Given the description of an element on the screen output the (x, y) to click on. 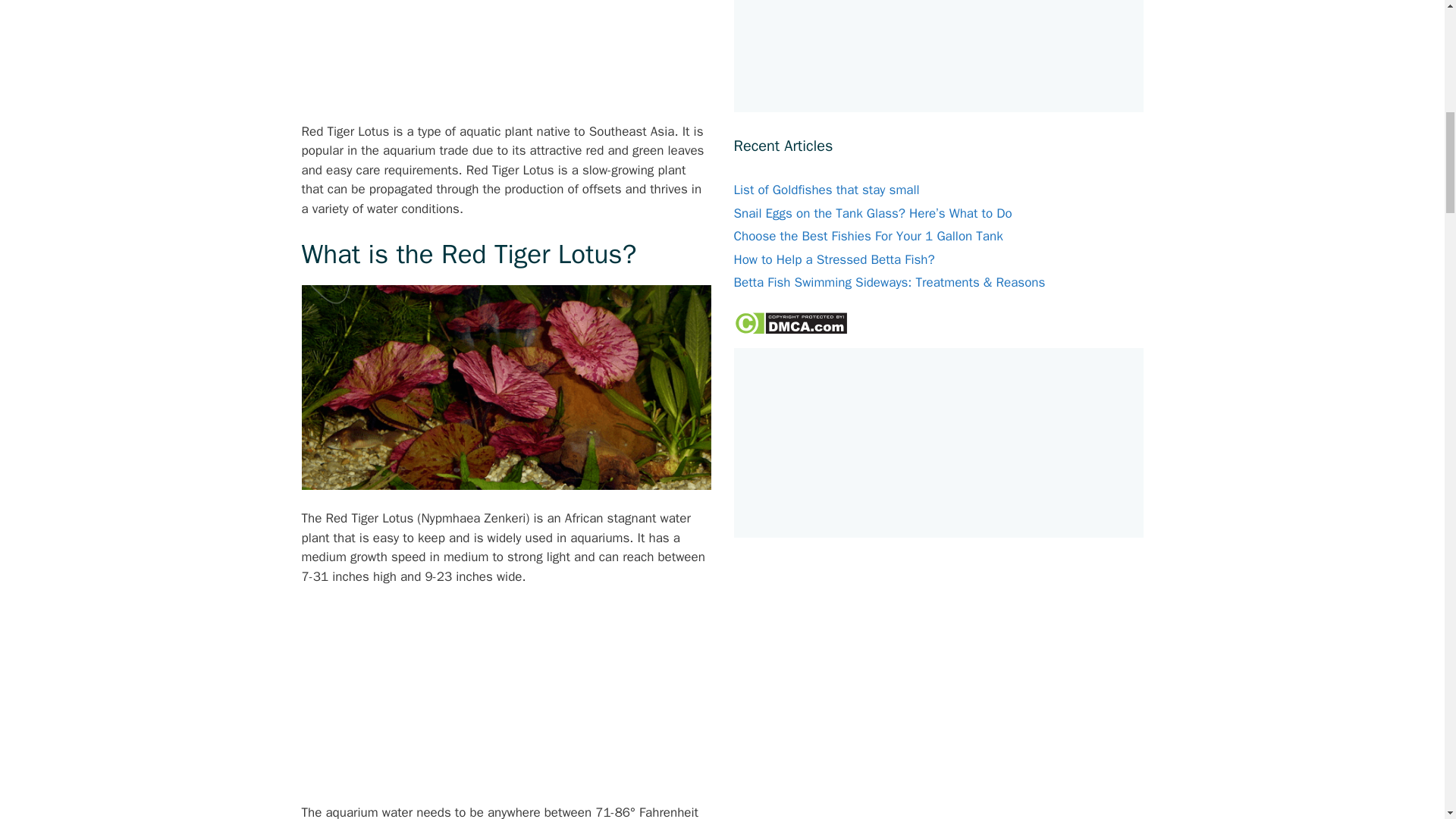
DMCA.com Protection Status (790, 330)
Choose the Best Fishies For Your 1 Gallon Tank (868, 236)
List of Goldfishes that stay small (826, 189)
